Given the description of an element on the screen output the (x, y) to click on. 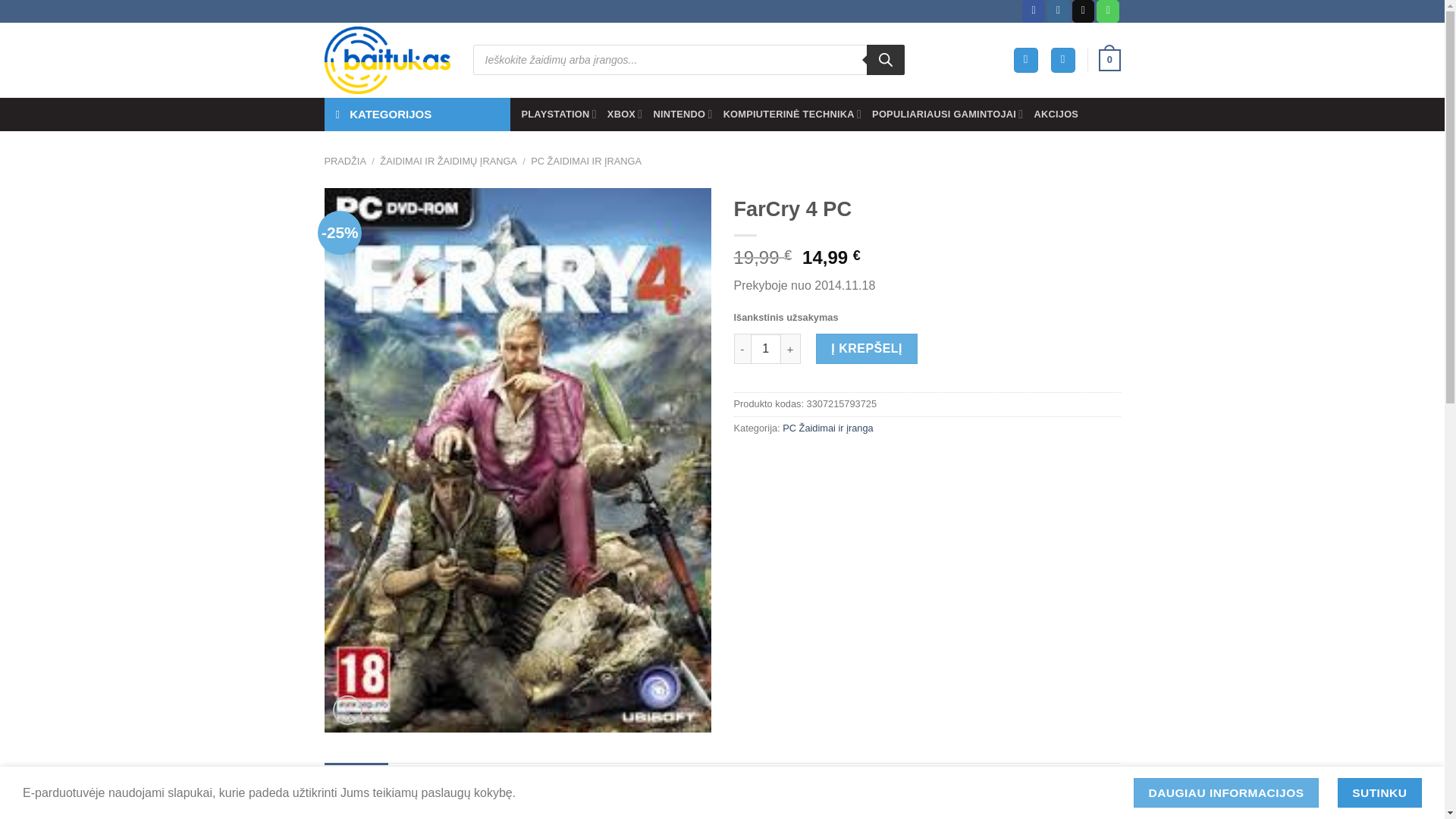
Kiekis (765, 348)
Call us (1107, 11)
Follow on Facebook (1033, 11)
Follow on Instagram (1058, 11)
Zoom (347, 709)
Send us an email (1082, 11)
1 (765, 348)
